Given the description of an element on the screen output the (x, y) to click on. 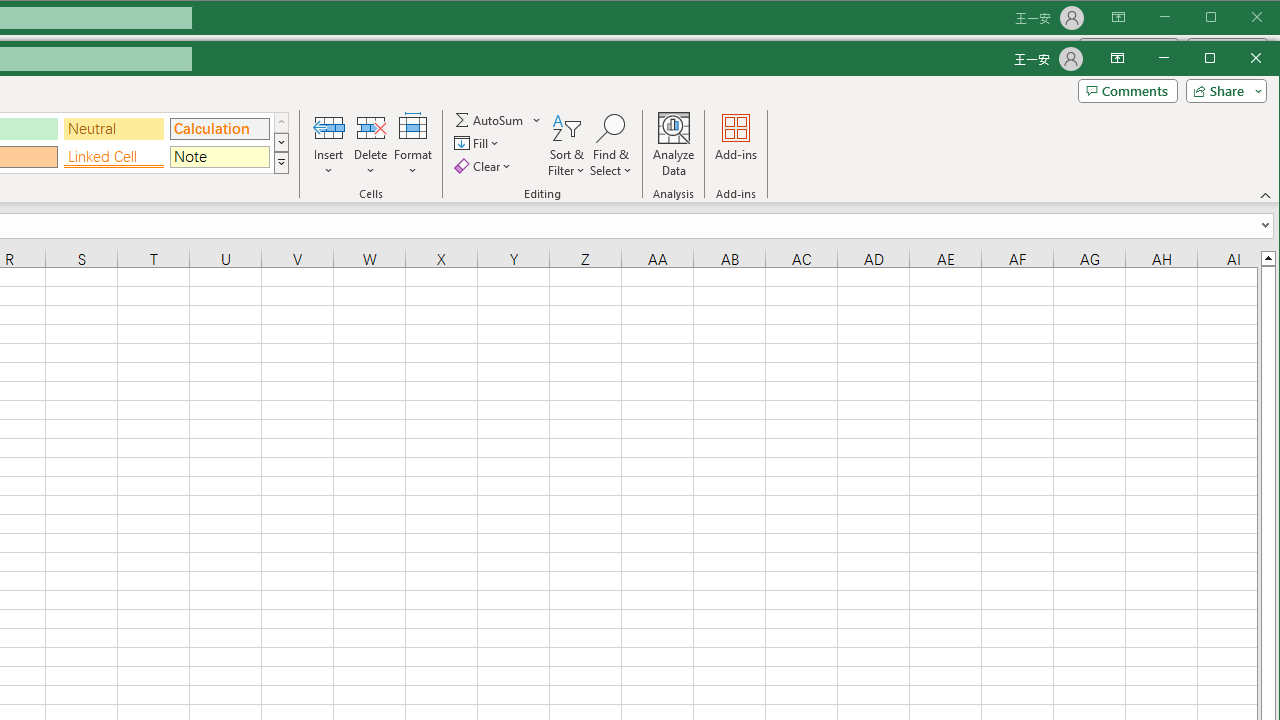
Delete Cells... (370, 127)
